Given the description of an element on the screen output the (x, y) to click on. 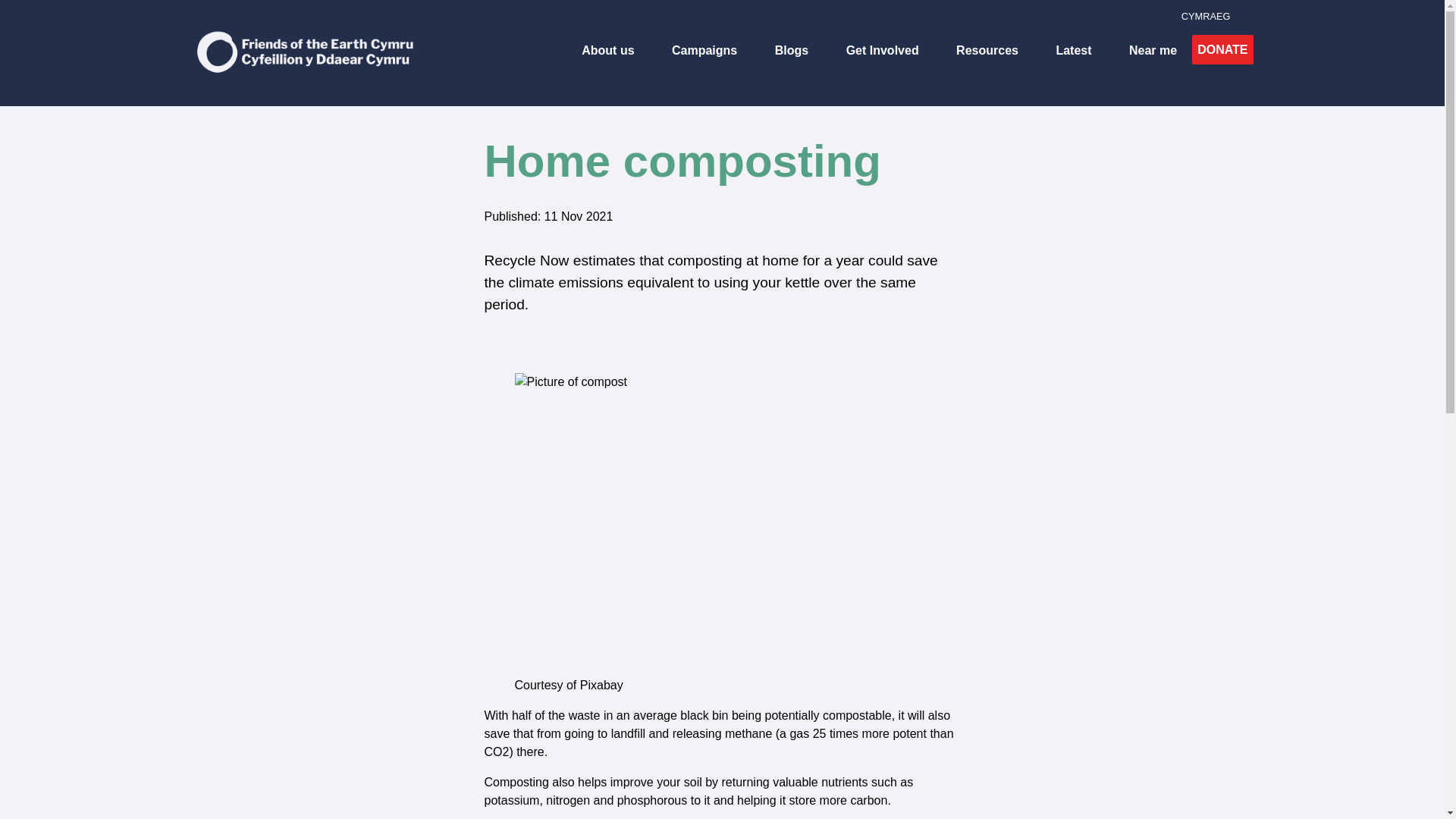
CYMRAEG (1205, 16)
DONATE (1222, 49)
Donate to Friends of the Earth Charitable trust (1222, 49)
